Given the description of an element on the screen output the (x, y) to click on. 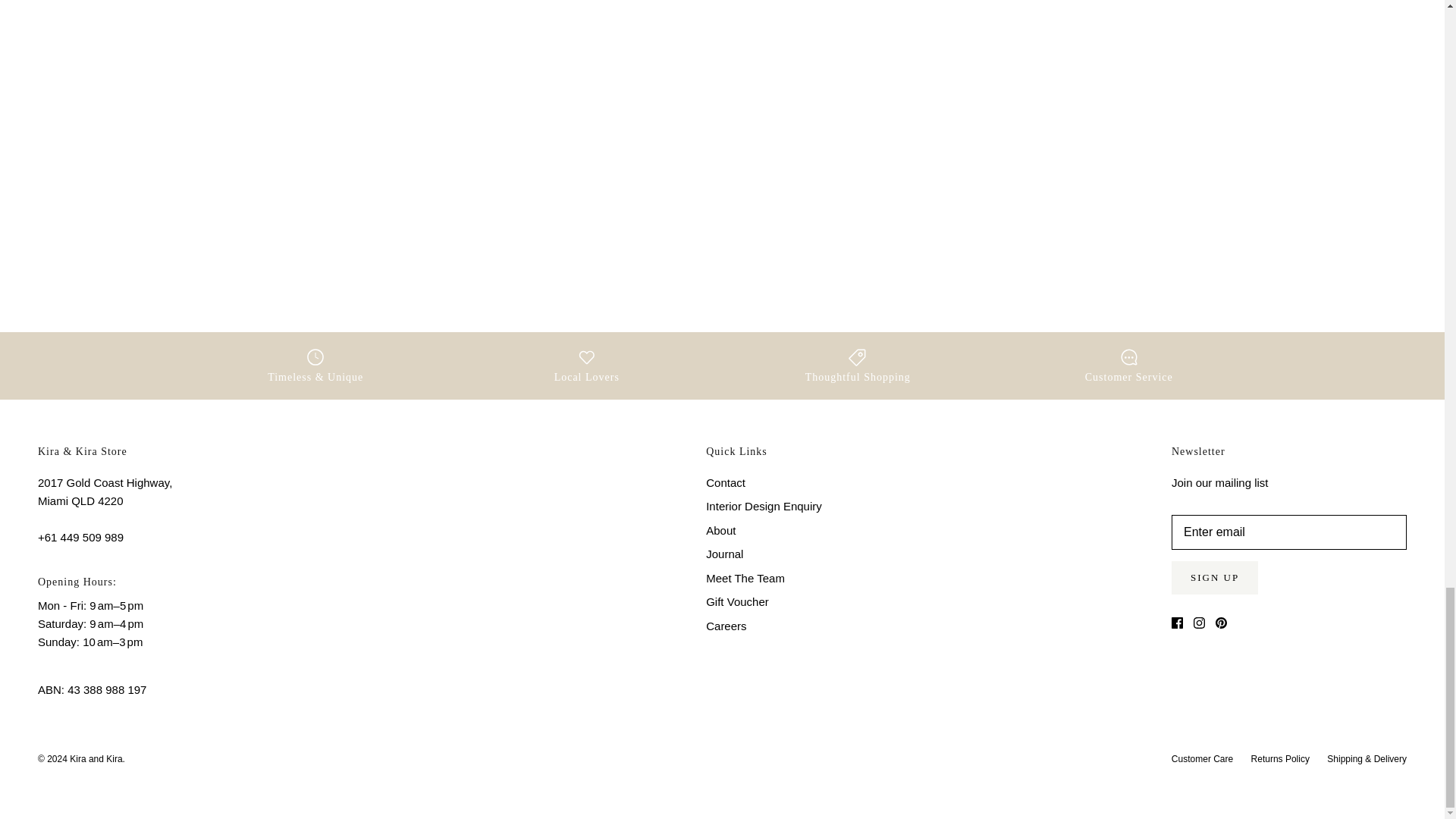
Pinterest (1221, 622)
Instagram (1199, 622)
Facebook (1177, 622)
